Given the description of an element on the screen output the (x, y) to click on. 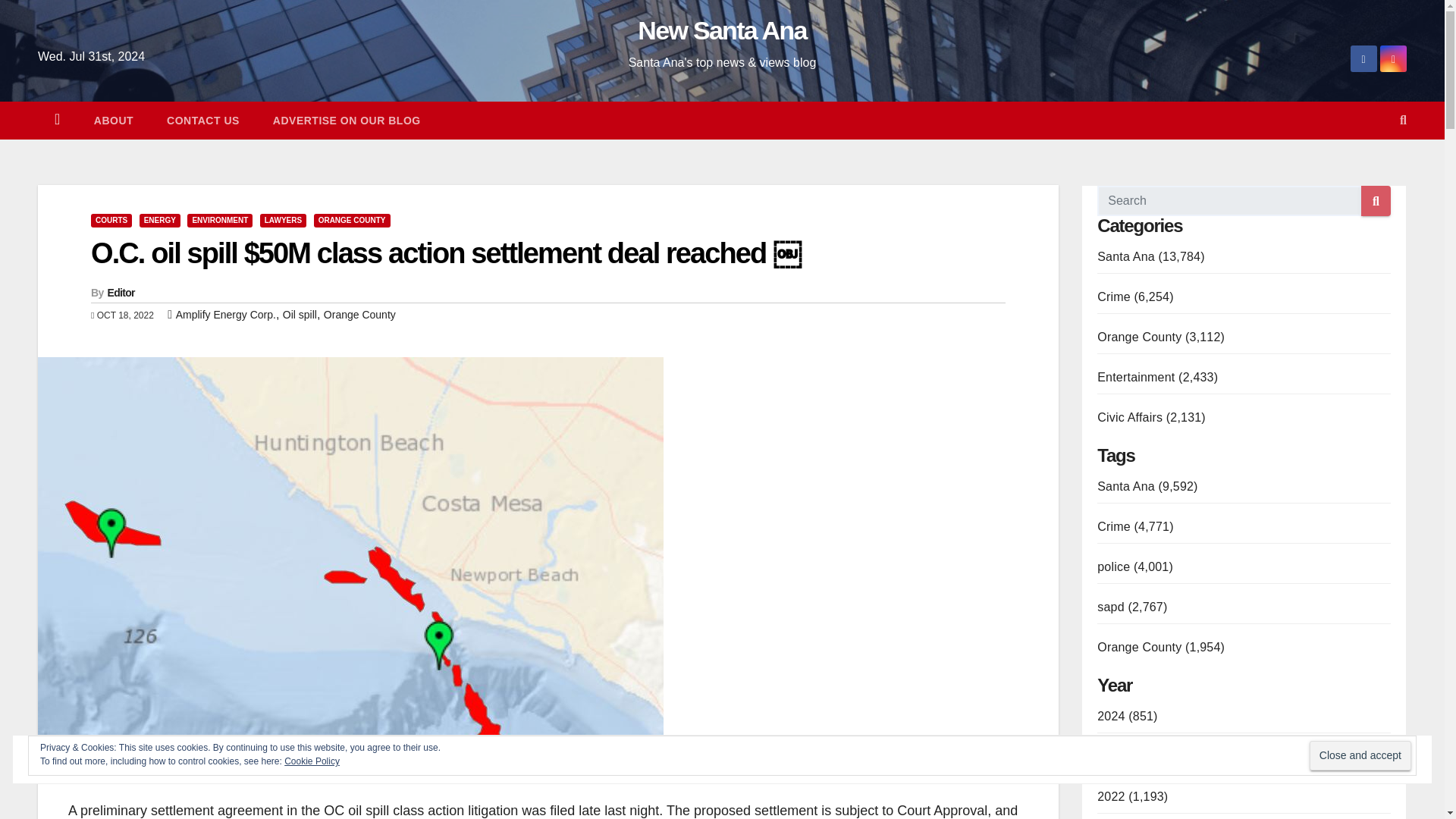
Amplify Energy Corp. (226, 314)
New Santa Ana (721, 30)
ENVIRONMENT (219, 220)
ORANGE COUNTY (352, 220)
ABOUT (113, 120)
About (113, 120)
Contact Us (202, 120)
Advertise on our blog (347, 120)
Editor (121, 292)
ENERGY (159, 220)
ADVERTISE ON OUR BLOG (347, 120)
Orange County (359, 314)
Oil spill (299, 314)
Home (57, 120)
